Given the description of an element on the screen output the (x, y) to click on. 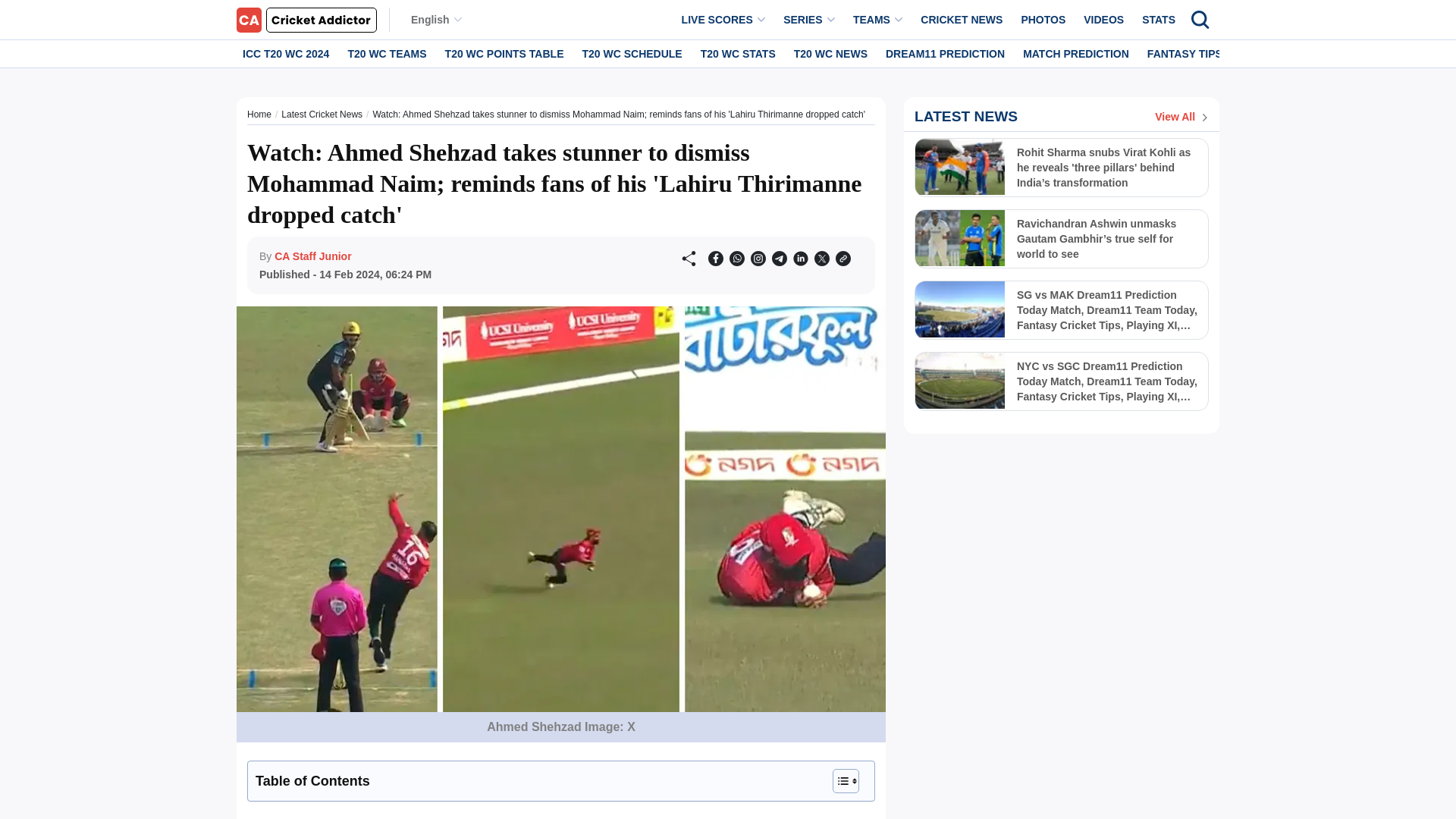
T20 WC POINTS TABLE (504, 53)
PHOTOS (1042, 19)
English (435, 19)
LIVE SCORES (723, 19)
SERIES (809, 19)
TEAMS (877, 19)
ICC T20 WC 2024 (284, 53)
CRICKET NEWS (961, 19)
VIDEOS (1103, 19)
T20 WC TEAMS (386, 53)
